Given the description of an element on the screen output the (x, y) to click on. 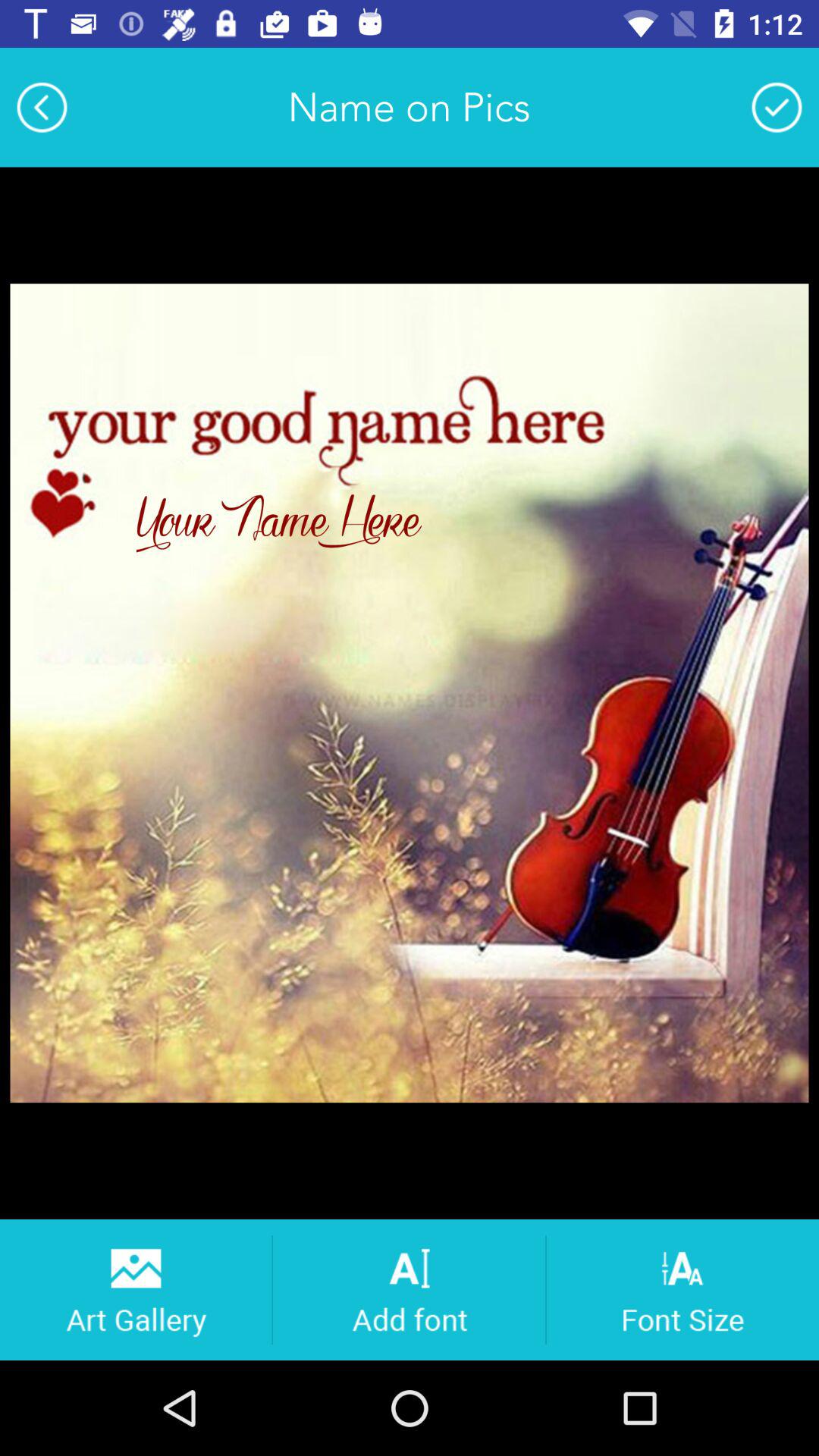
select the item at the top left corner (41, 107)
